Given the description of an element on the screen output the (x, y) to click on. 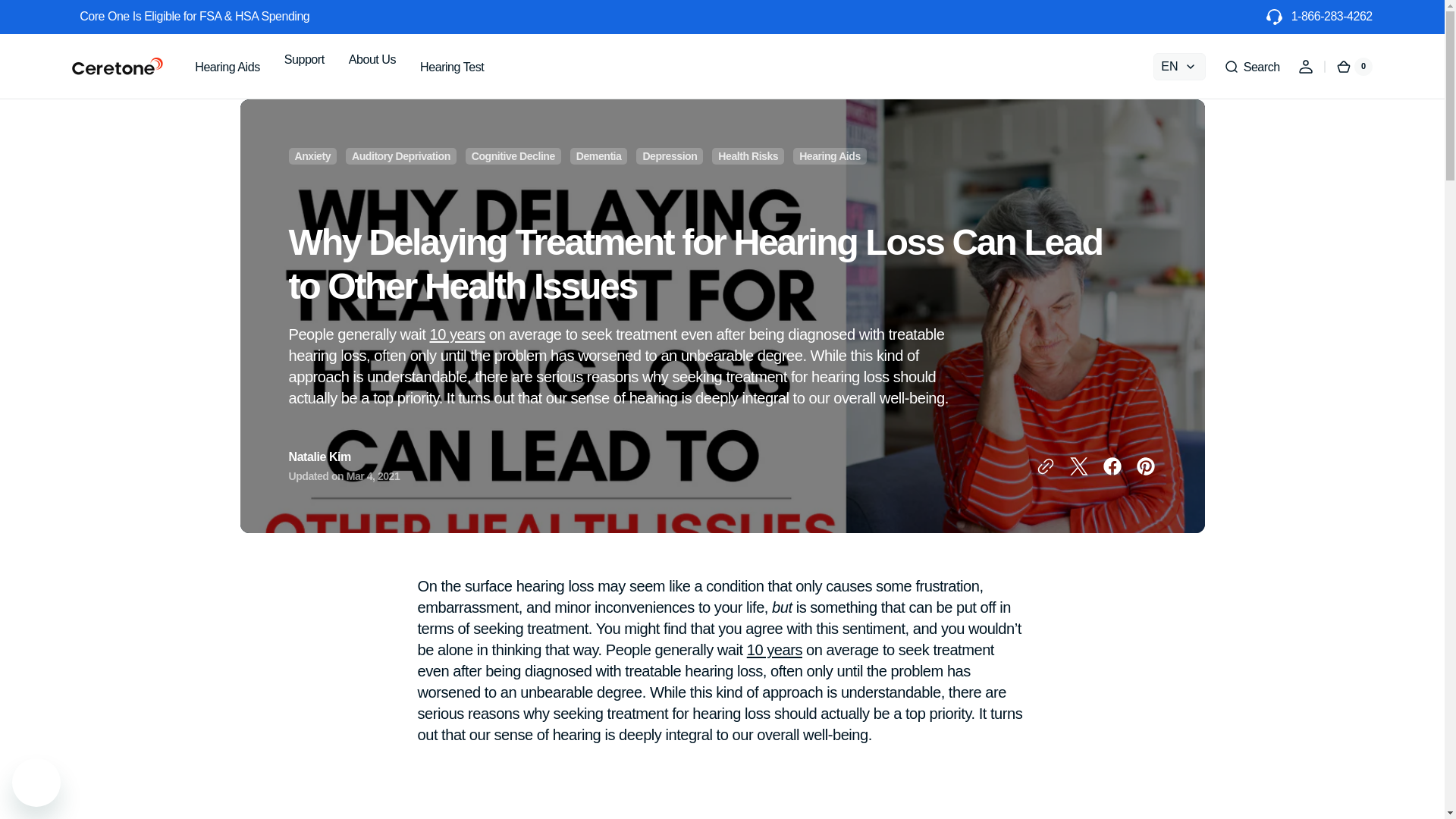
anxiety (312, 155)
About Us (371, 59)
Skip to content (37, 18)
dementia (598, 155)
Hearing Aids (226, 65)
Hearing Aids (226, 66)
1-866-283-4262 (1332, 16)
hearing aids (829, 155)
Support (303, 59)
health risks (747, 155)
depression (669, 155)
cognitive decline (512, 155)
auditory deprivation (400, 155)
Support (303, 64)
Hearing Test (452, 65)
